Given the description of an element on the screen output the (x, y) to click on. 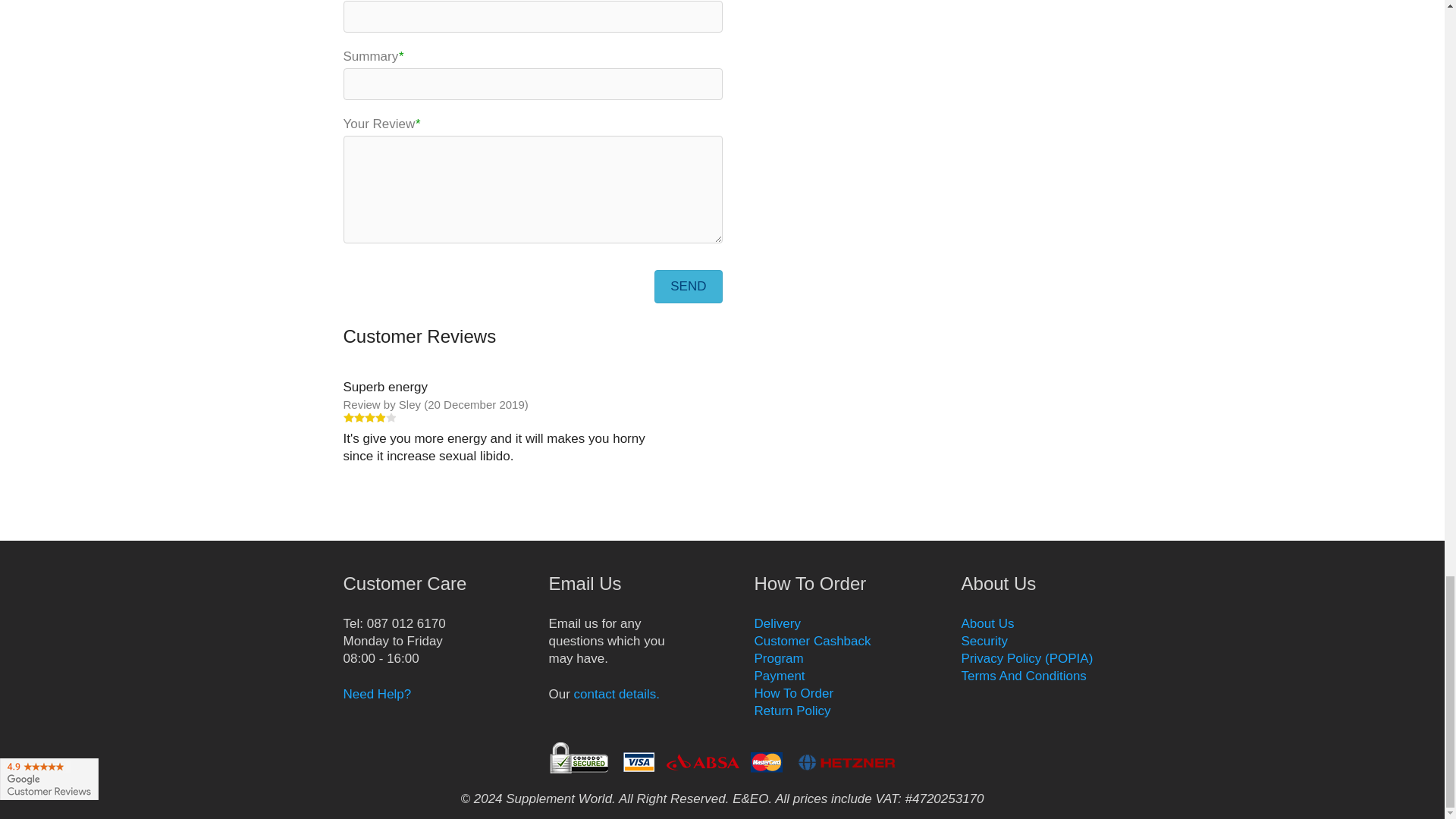
Delivery (776, 623)
About Us (987, 623)
Terms and Conditions (1023, 676)
How To Order (793, 693)
Submit Review (687, 286)
Contact Us (616, 694)
Return Policy (791, 710)
Security (983, 640)
Payment (779, 676)
Need Help? (376, 694)
Payment (812, 649)
